Given the description of an element on the screen output the (x, y) to click on. 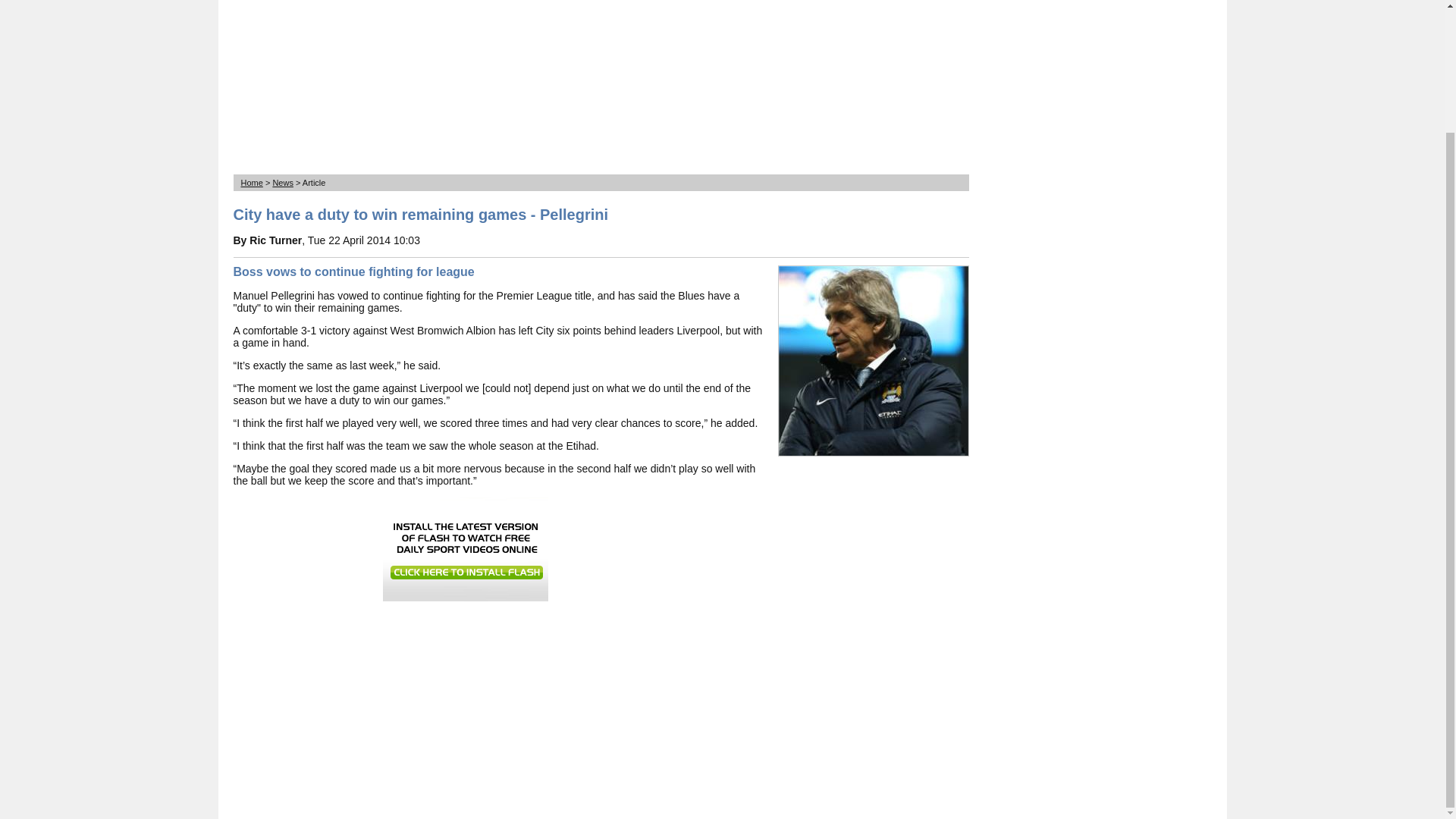
News (283, 182)
Home (252, 182)
